Given the description of an element on the screen output the (x, y) to click on. 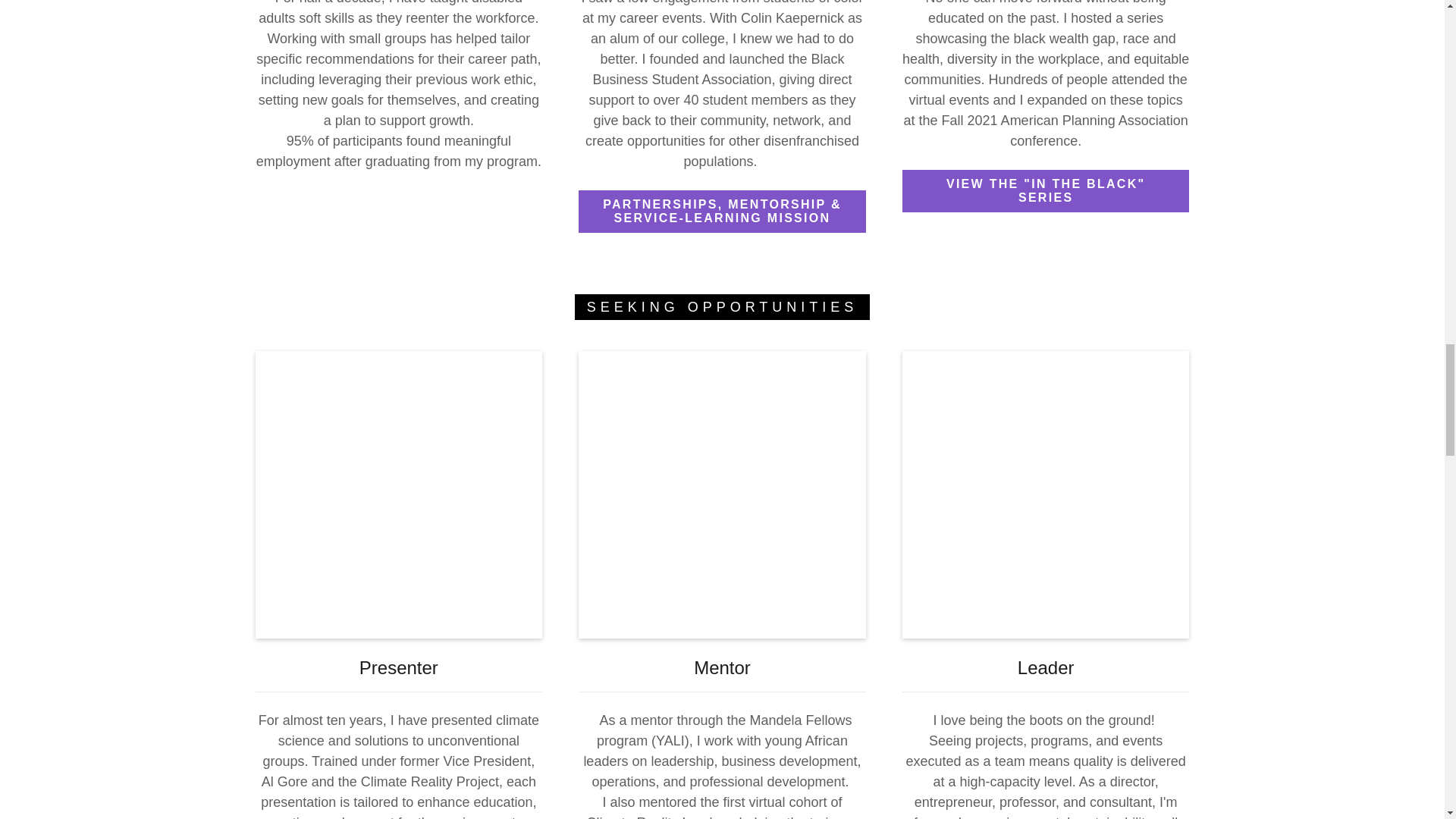
VIEW THE "IN THE BLACK" SERIES (1045, 190)
